Given the description of an element on the screen output the (x, y) to click on. 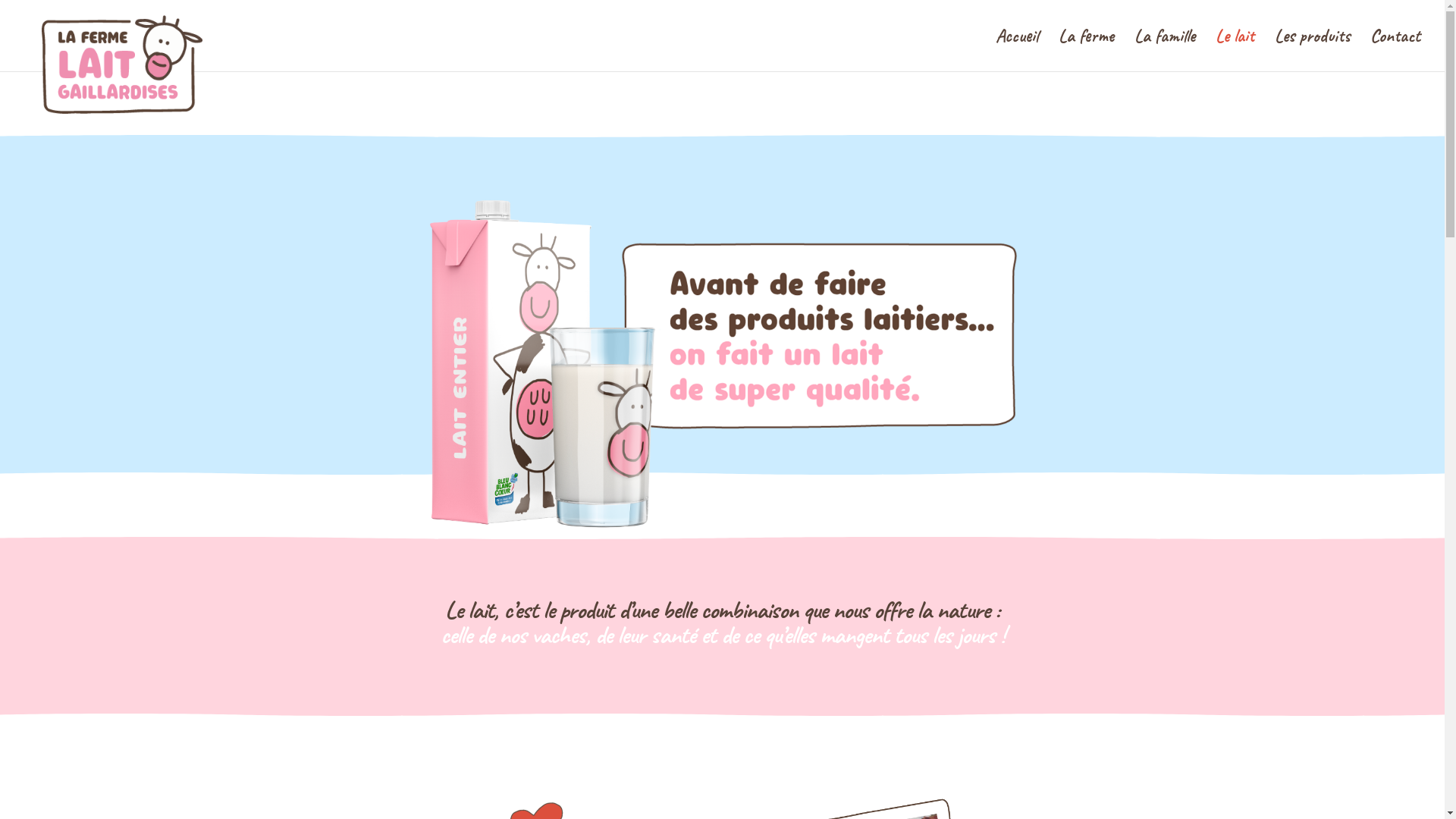
Les produits Element type: text (1311, 50)
La ferme Element type: text (1085, 50)
Le lait Element type: text (1234, 50)
Accueil Element type: text (1016, 50)
La famille Element type: text (1164, 50)
Contact Element type: text (1395, 50)
24490-milk-pack-with-glass-mockup-copie Element type: hover (721, 364)
